Given the description of an element on the screen output the (x, y) to click on. 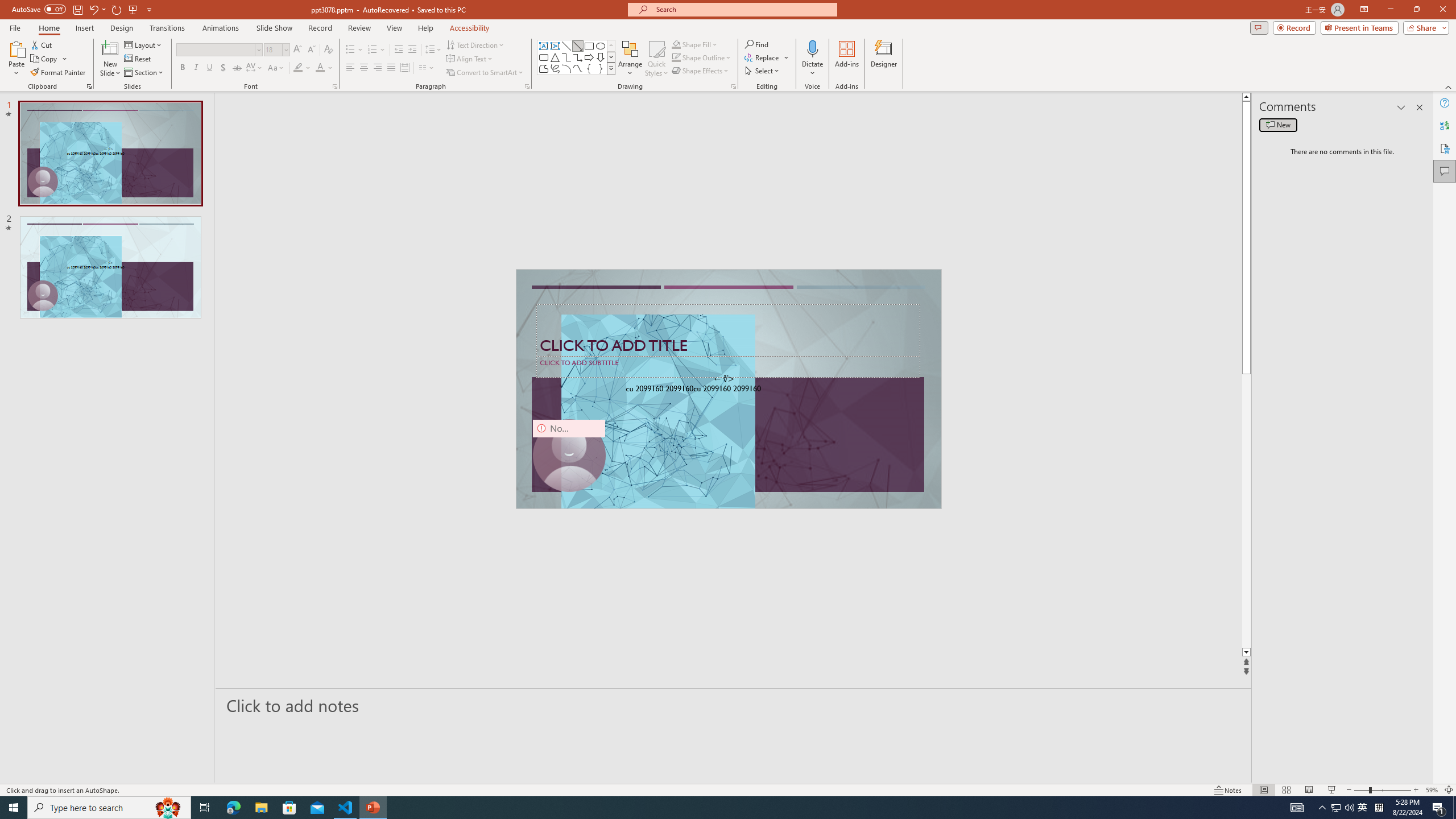
Shape Effects (700, 69)
